Given the description of an element on the screen output the (x, y) to click on. 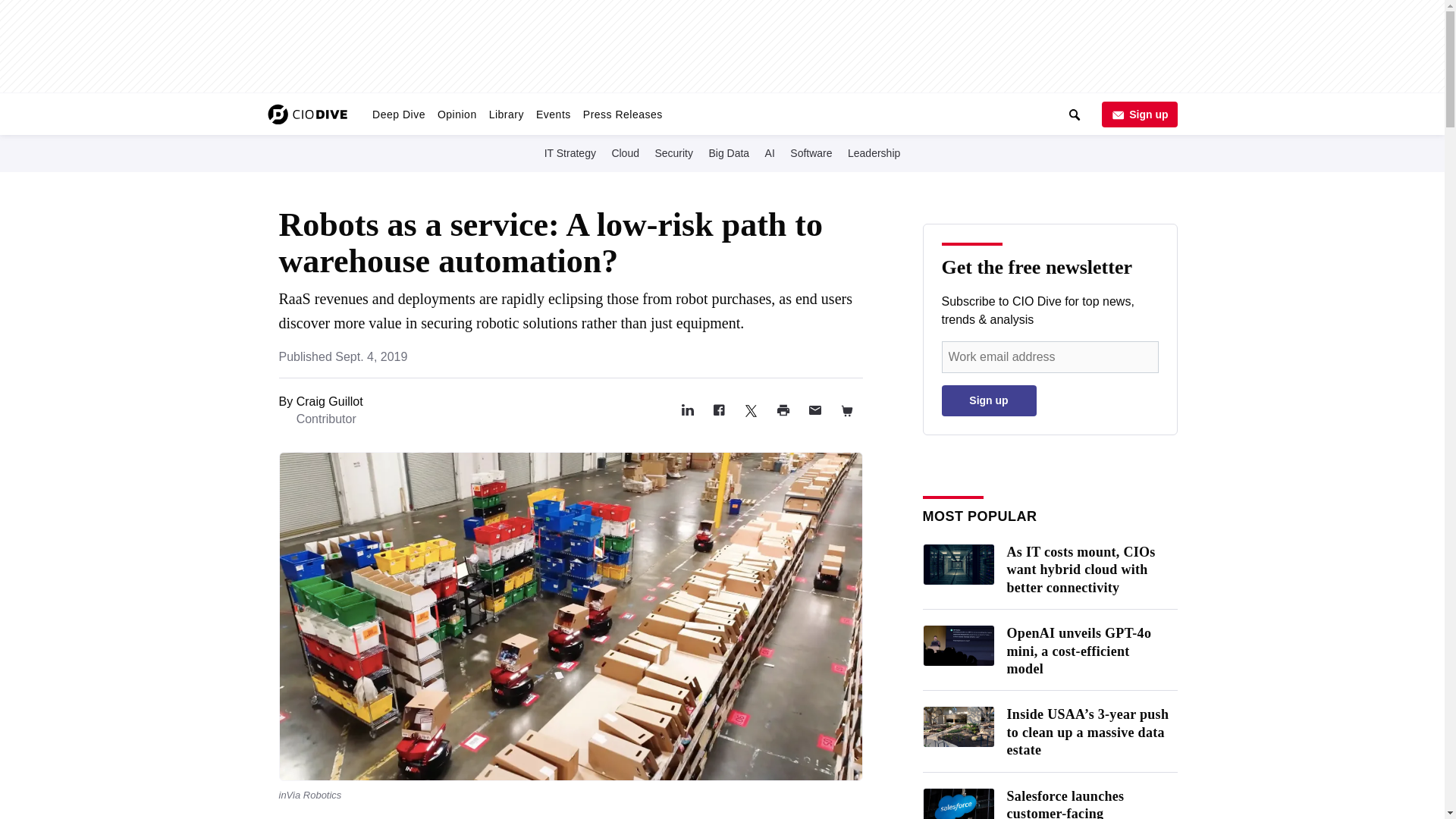
Deep Dive (398, 114)
Events (552, 114)
Cloud (625, 152)
IT Strategy (569, 152)
Leadership (873, 152)
Big Data (728, 152)
Software (810, 152)
Press Releases (622, 114)
Security (672, 152)
Library (506, 114)
Sign up (1138, 114)
AI (769, 152)
Opinion (456, 114)
